Given the description of an element on the screen output the (x, y) to click on. 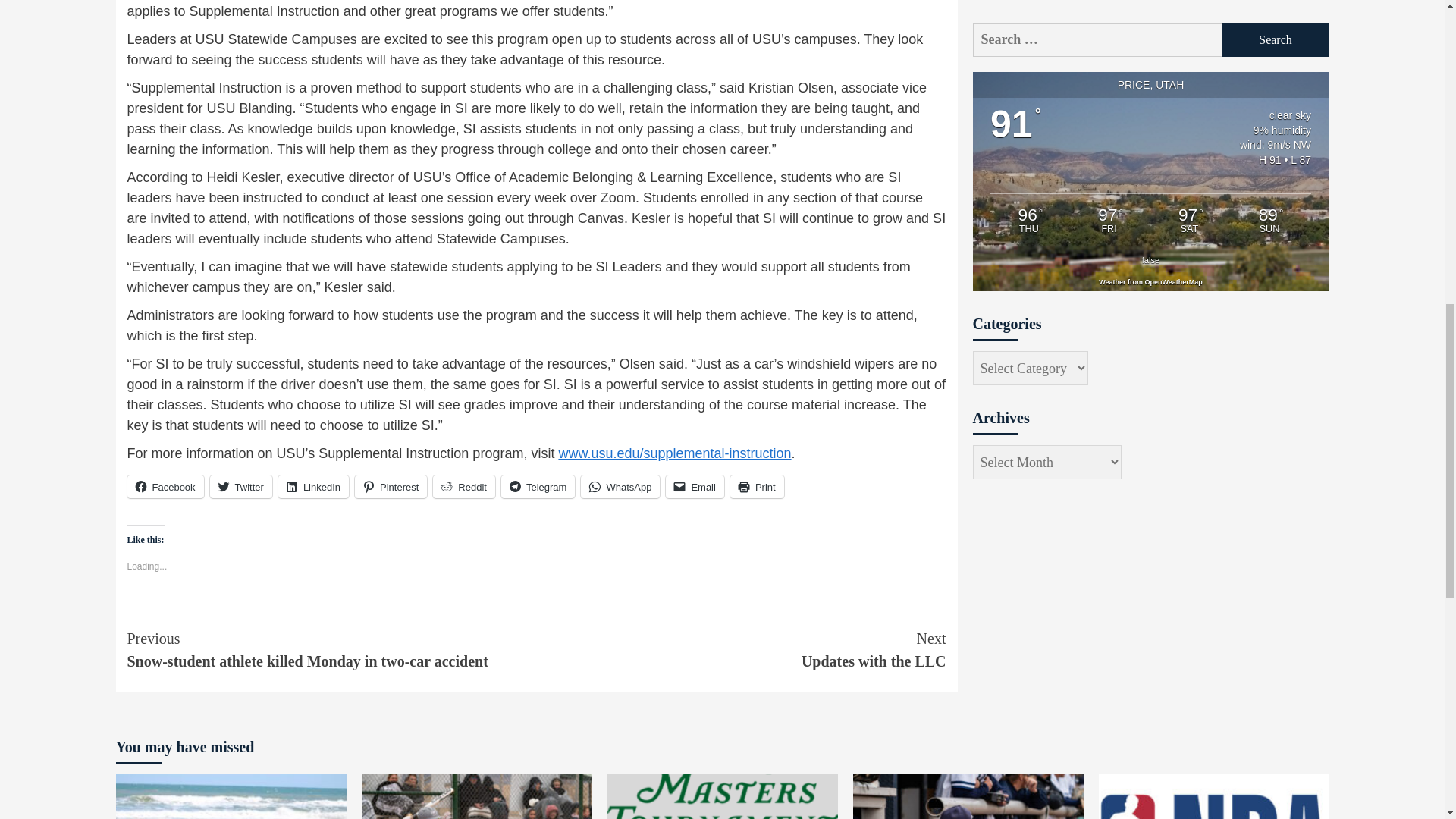
Click to share on Twitter (240, 486)
Click to share on LinkedIn (313, 486)
Click to share on Reddit (463, 486)
Click to share on Pinterest (390, 486)
Click to share on Facebook (165, 486)
